Given the description of an element on the screen output the (x, y) to click on. 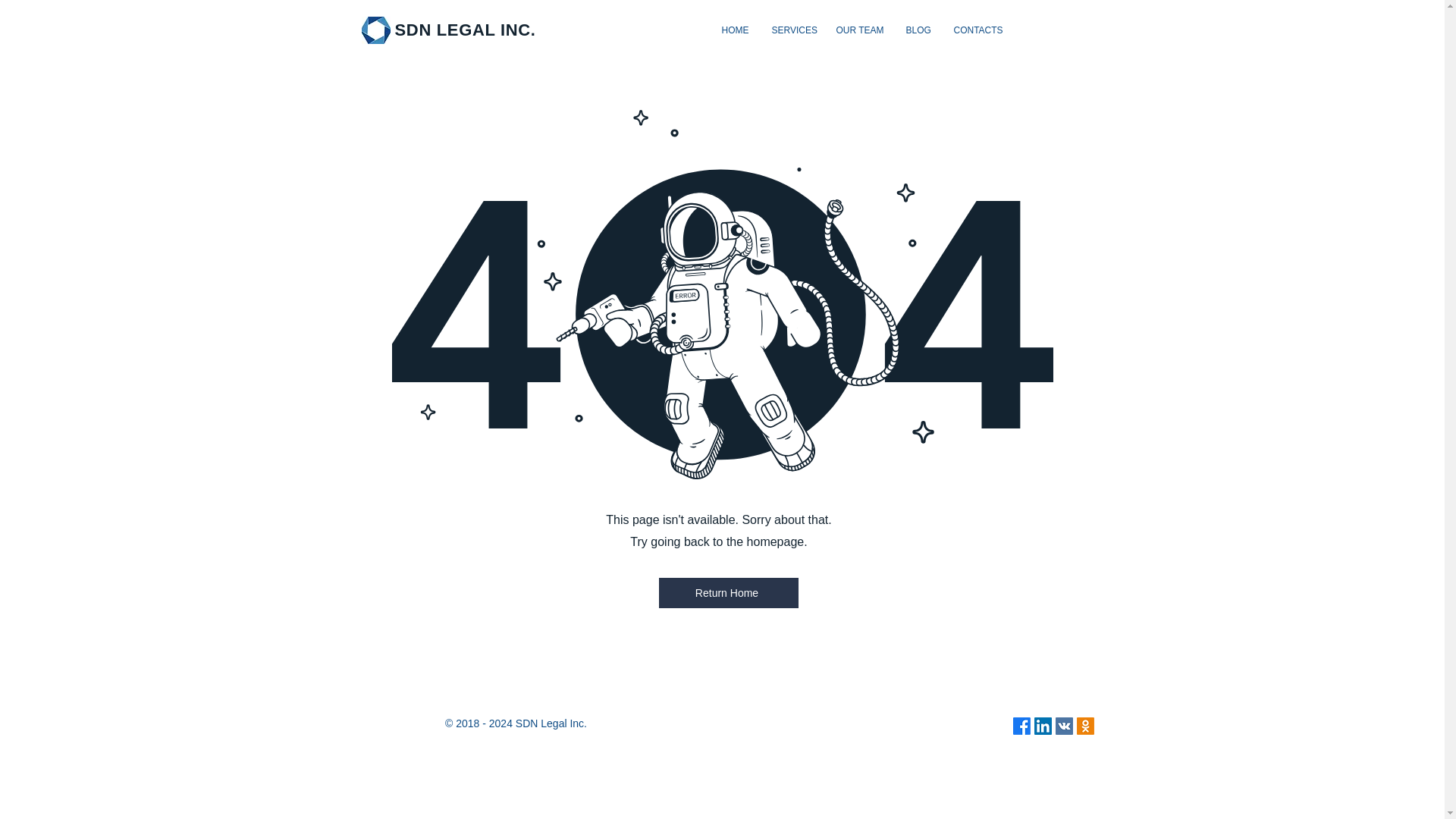
OUR TEAM (860, 29)
CONTACTS (976, 29)
Home page (375, 30)
SERVICES (792, 29)
Return Home (727, 593)
HOME (735, 29)
SDN LEGAL INC. (464, 29)
BLOG (918, 29)
